Given the description of an element on the screen output the (x, y) to click on. 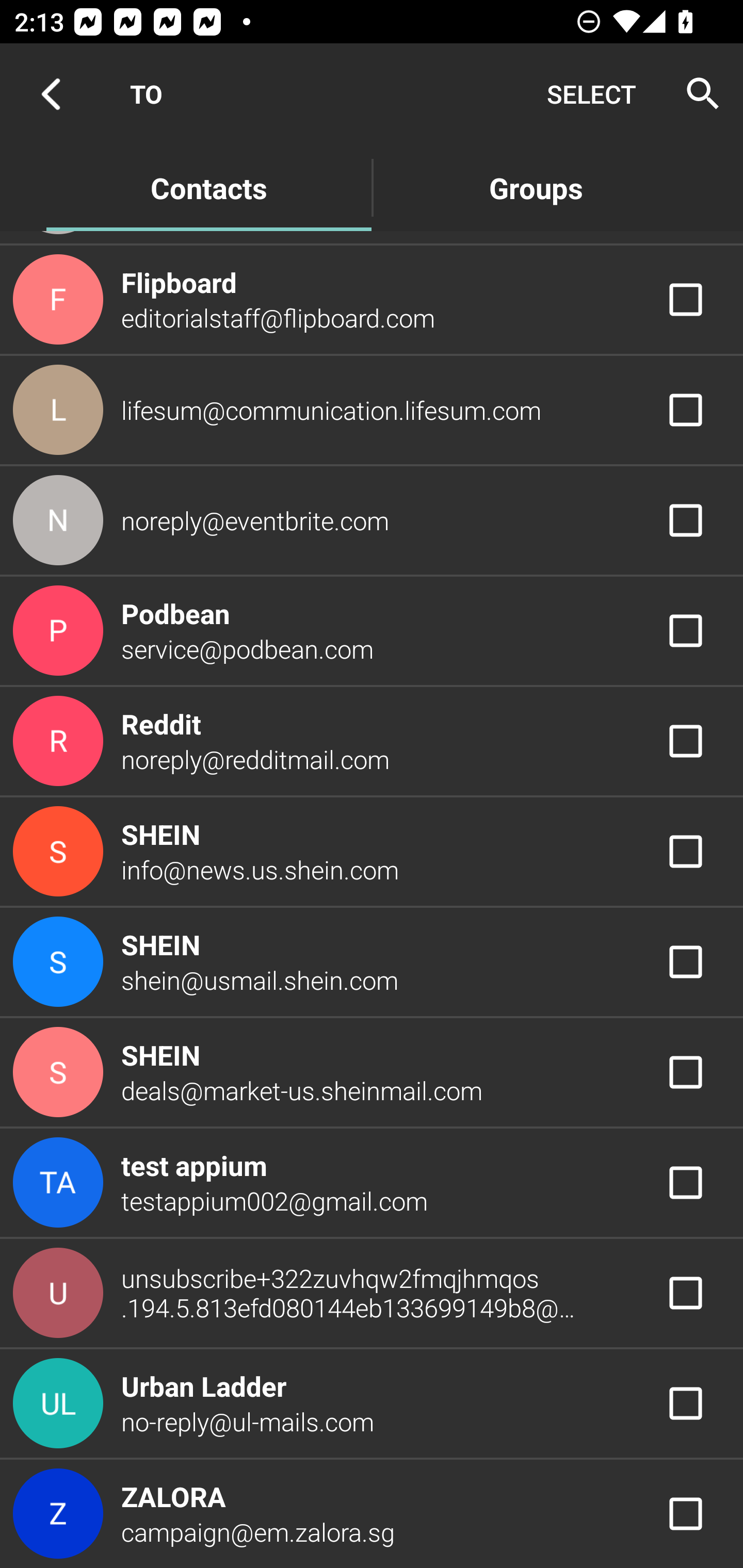
Navigate up (50, 93)
SELECT (590, 93)
Search (696, 93)
Contacts (208, 187)
Groups (535, 187)
Flipboard editorialstaff@flipboard.com (371, 300)
lifesum@communication.lifesum.com (371, 409)
noreply@eventbrite.com (371, 519)
Podbean service@podbean.com (371, 631)
Reddit noreply@redditmail.com (371, 740)
SHEIN info@news.us.shein.com (371, 852)
SHEIN shein@usmail.shein.com (371, 961)
SHEIN deals@market-us.sheinmail.com (371, 1071)
test appium testappium002@gmail.com (371, 1182)
Urban Ladder no-reply@ul-mails.com (371, 1404)
ZALORA campaign@em.zalora.sg (371, 1513)
